Given the description of an element on the screen output the (x, y) to click on. 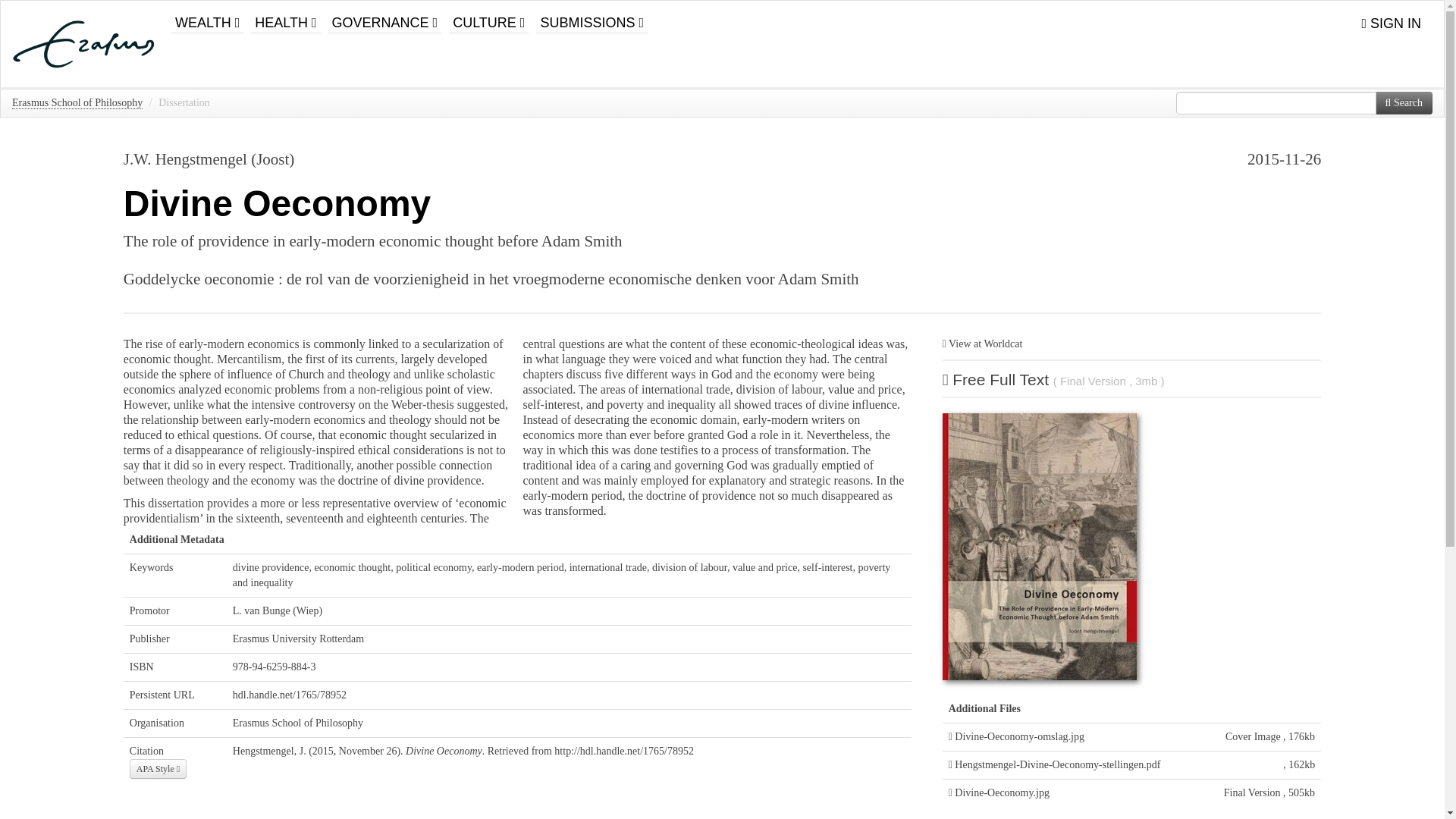
SIGN IN (1391, 23)
HEALTH (285, 16)
Erasmus School of Philosophy (76, 102)
Search (1403, 102)
WEALTH (207, 16)
Erasmus School of Philosophy (297, 722)
APA Style (157, 768)
CULTURE (488, 16)
Erasmus University Rotterdam (298, 638)
SUBMISSIONS (591, 16)
GOVERNANCE (385, 16)
